Given the description of an element on the screen output the (x, y) to click on. 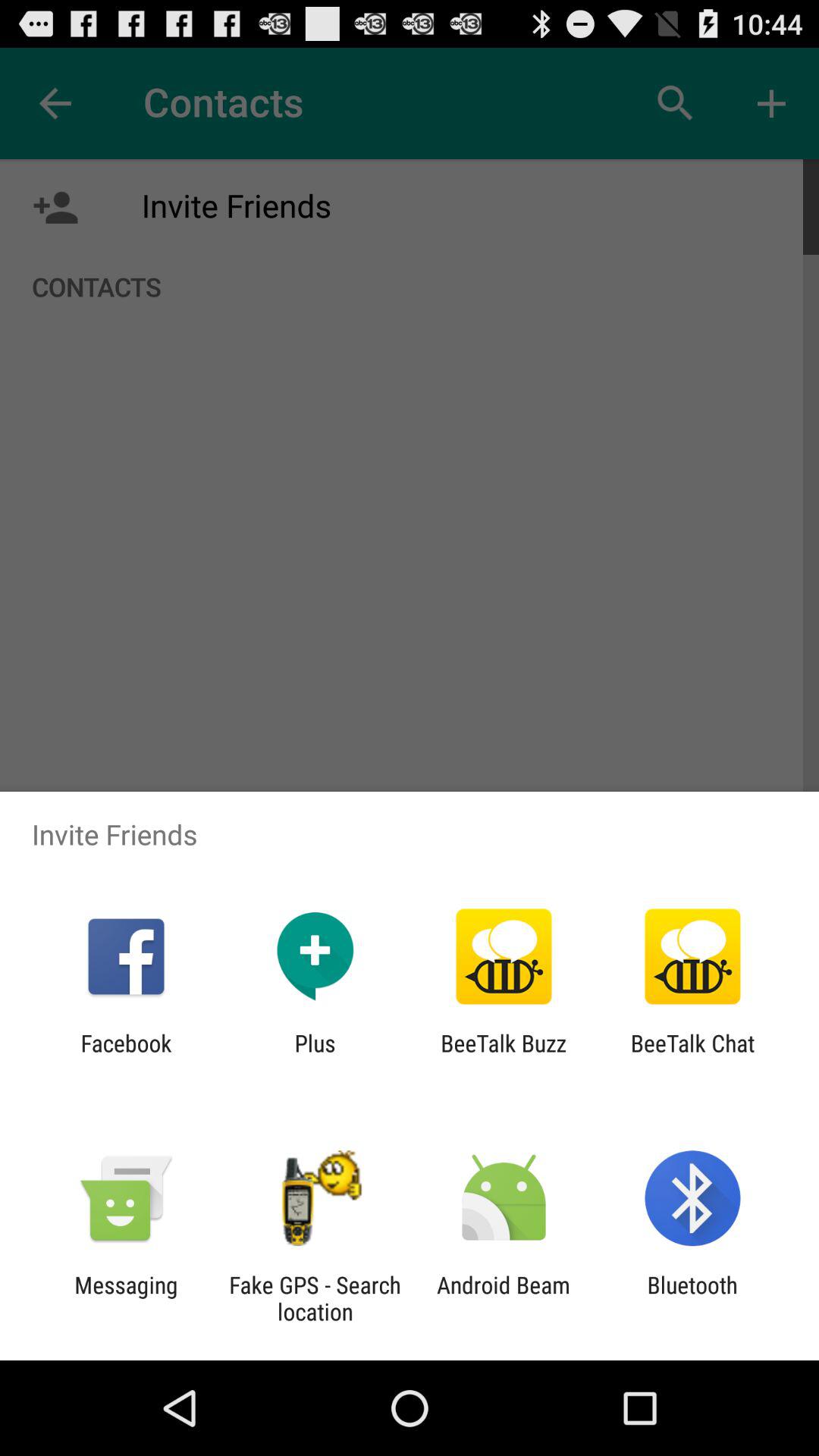
select the app next to fake gps search icon (503, 1298)
